Given the description of an element on the screen output the (x, y) to click on. 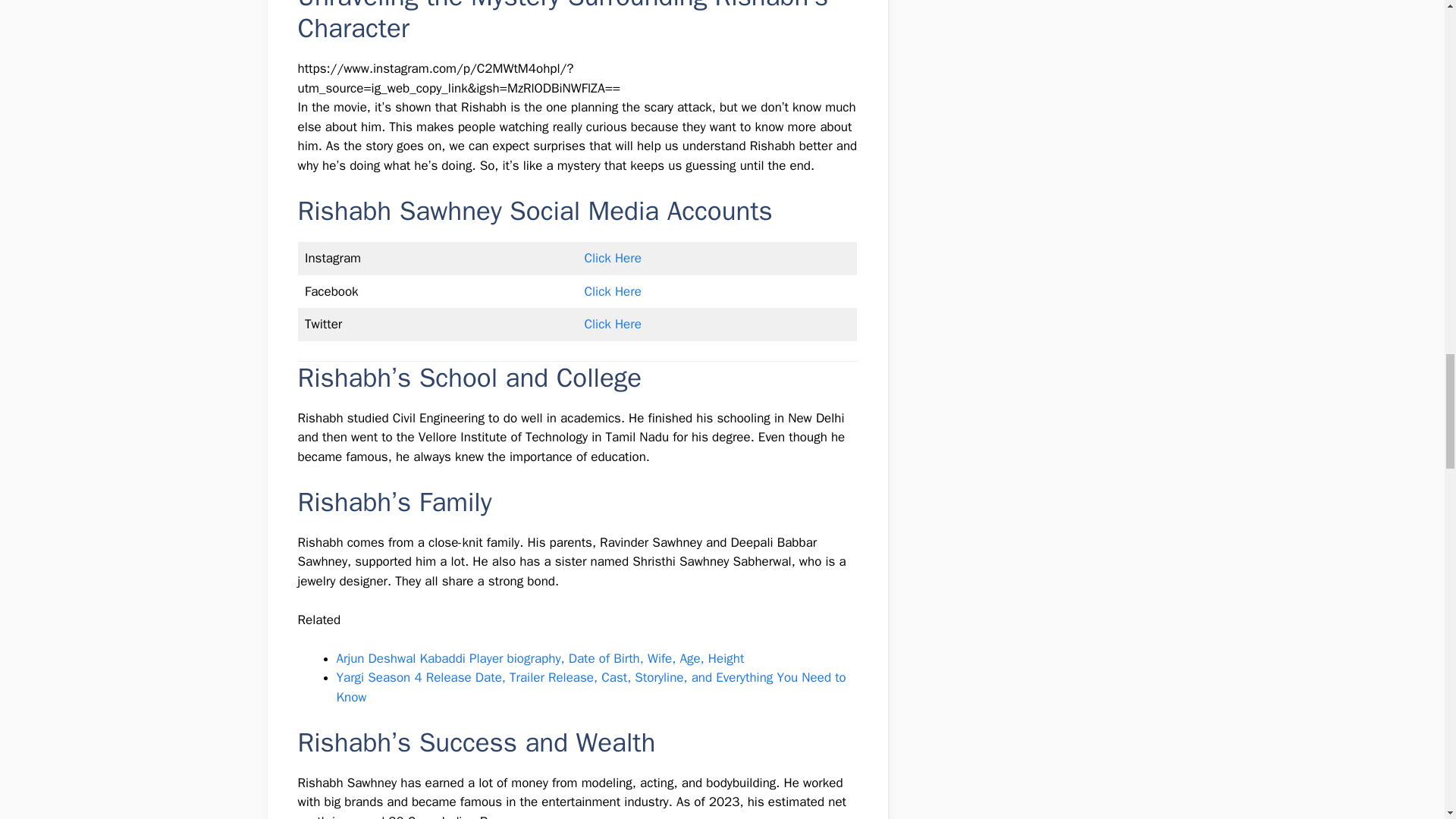
Click Here (611, 258)
Click Here (611, 291)
Click Here (611, 324)
